Given the description of an element on the screen output the (x, y) to click on. 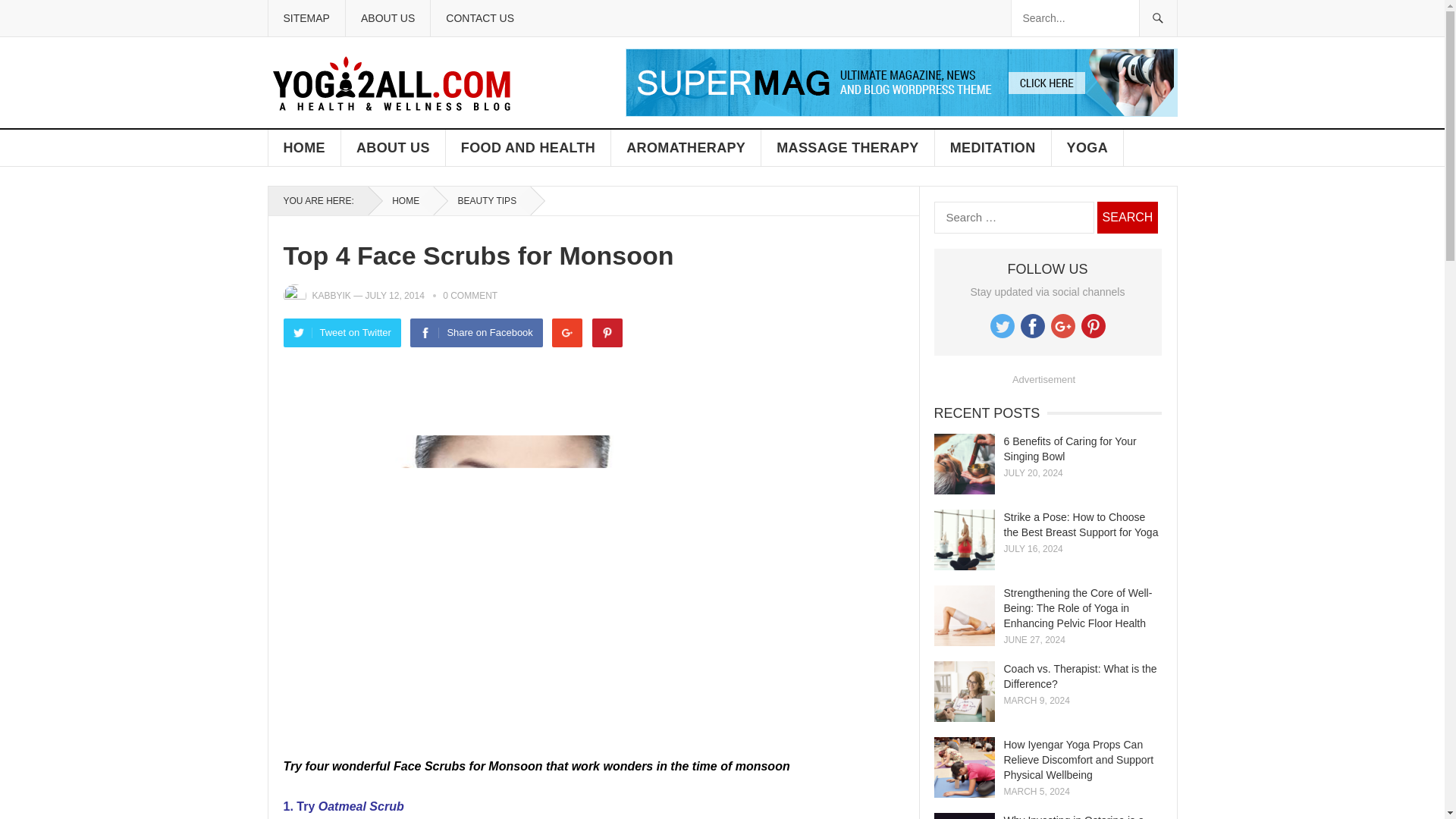
CONTACT US (479, 18)
SITEMAP (304, 18)
Posts by Kabbyik (331, 295)
ABOUT US (392, 147)
FOOD AND HEALTH (528, 147)
MEDITATION (992, 147)
Search (1127, 217)
Search (1127, 217)
View all posts in Beauty tips (482, 200)
SuperMag (900, 112)
YOGA (1087, 147)
MASSAGE THERAPY (847, 147)
HOME (303, 147)
AROMATHERAPY (686, 147)
ABOUT US (387, 18)
